Given the description of an element on the screen output the (x, y) to click on. 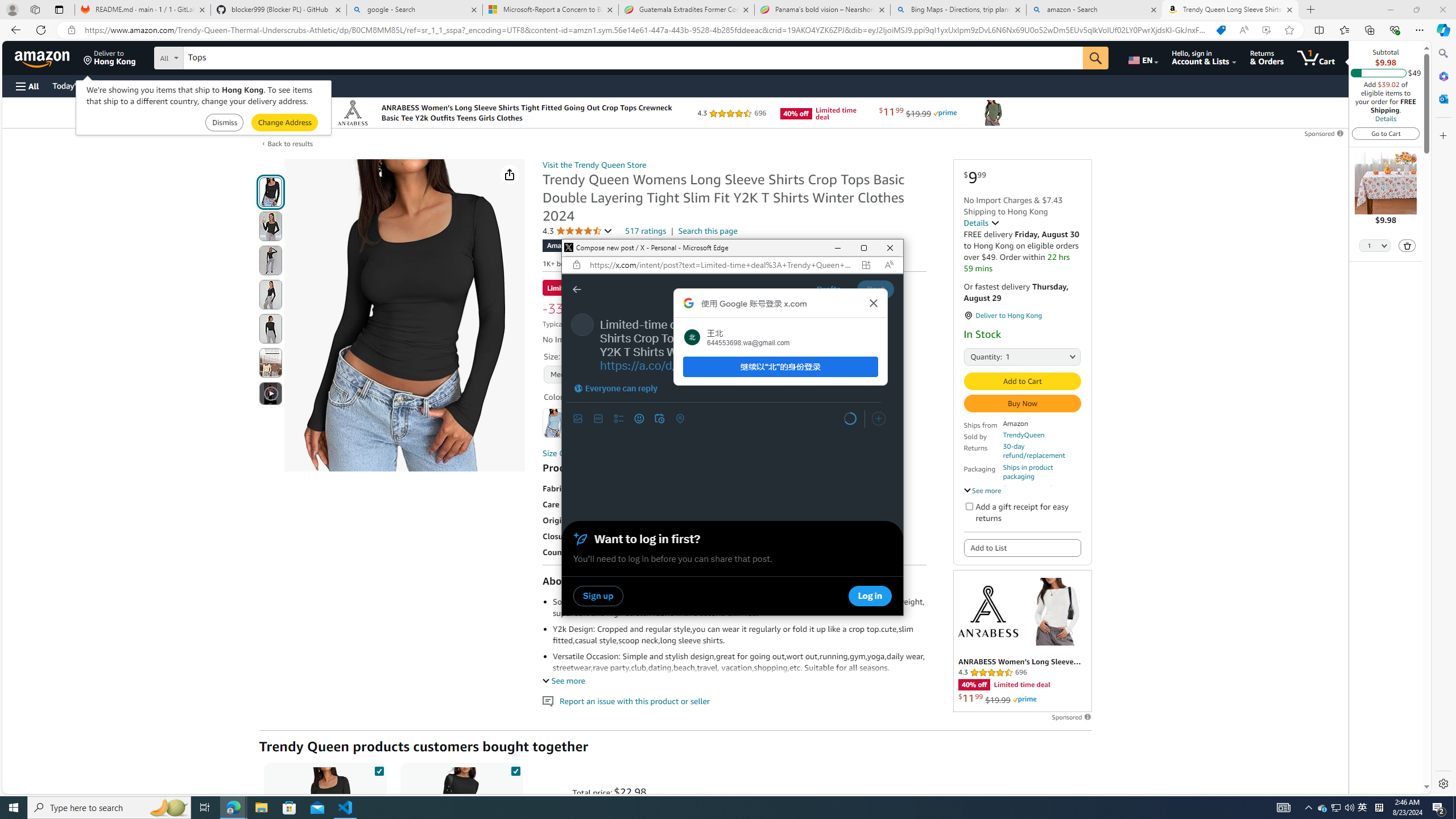
Search this page (708, 230)
AutomationID: thematicBundleCheck-1 (379, 768)
Go to Cart (1385, 133)
Ships in product packaging (1042, 471)
amazon - Search (1094, 9)
Tag Location (679, 418)
Details  (981, 222)
Hello, sign in Account & Lists (1203, 57)
Report an issue with this product or seller (548, 701)
Notification Chevron (1335, 807)
